Given the description of an element on the screen output the (x, y) to click on. 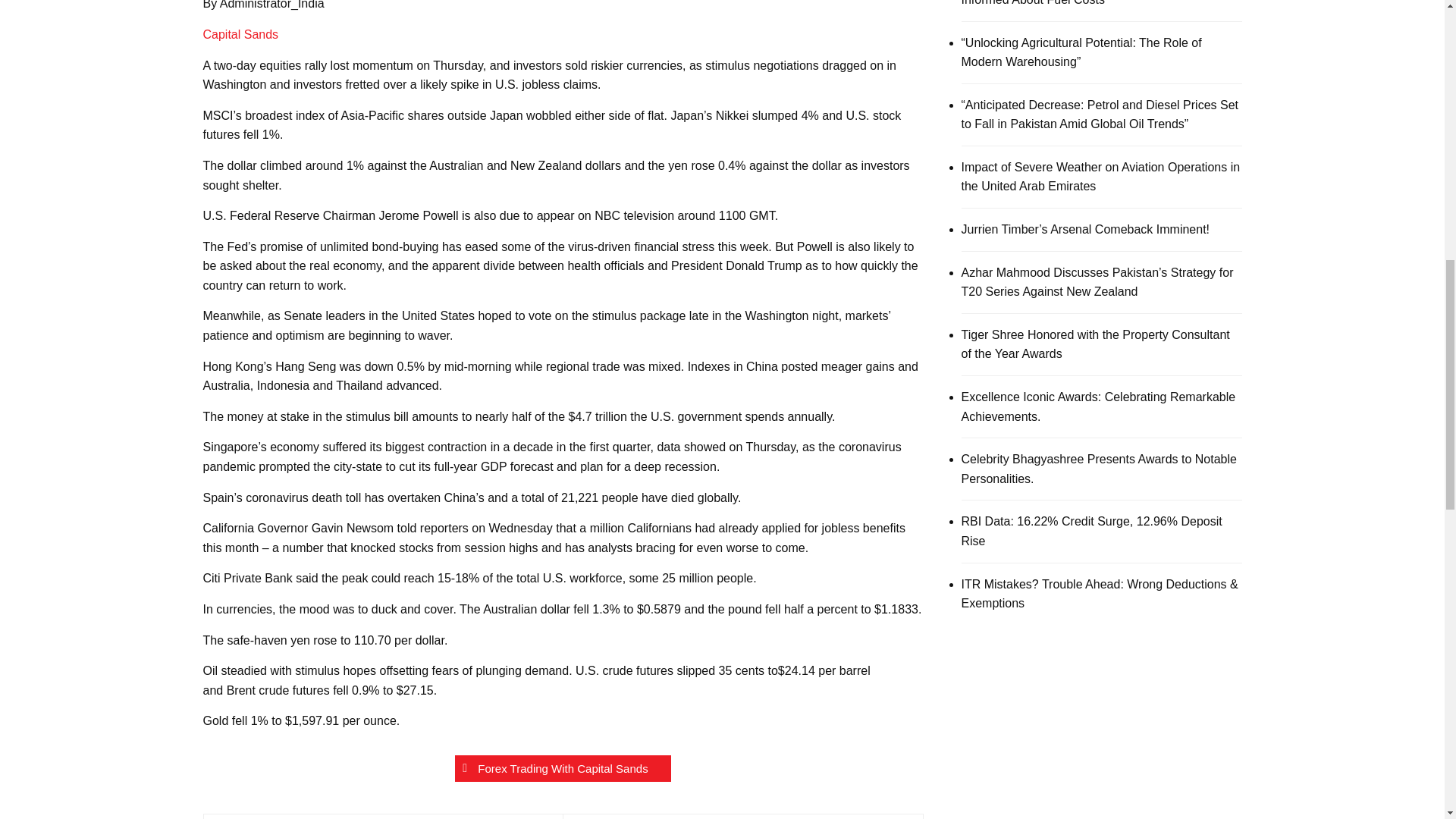
Capital Sands (241, 33)
Forex Trading With Capital Sands (561, 768)
